Given the description of an element on the screen output the (x, y) to click on. 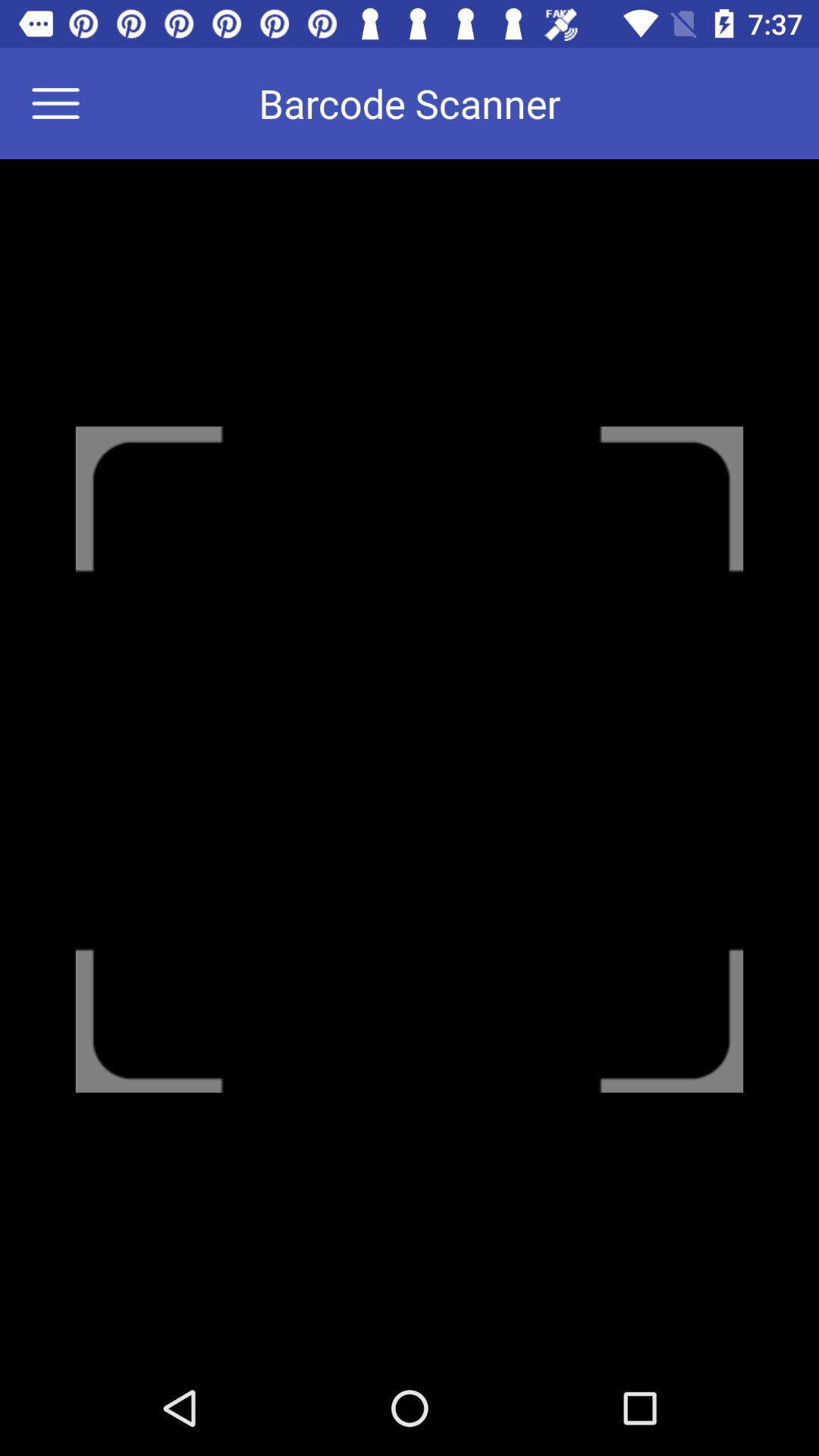
open menu (65, 103)
